Given the description of an element on the screen output the (x, y) to click on. 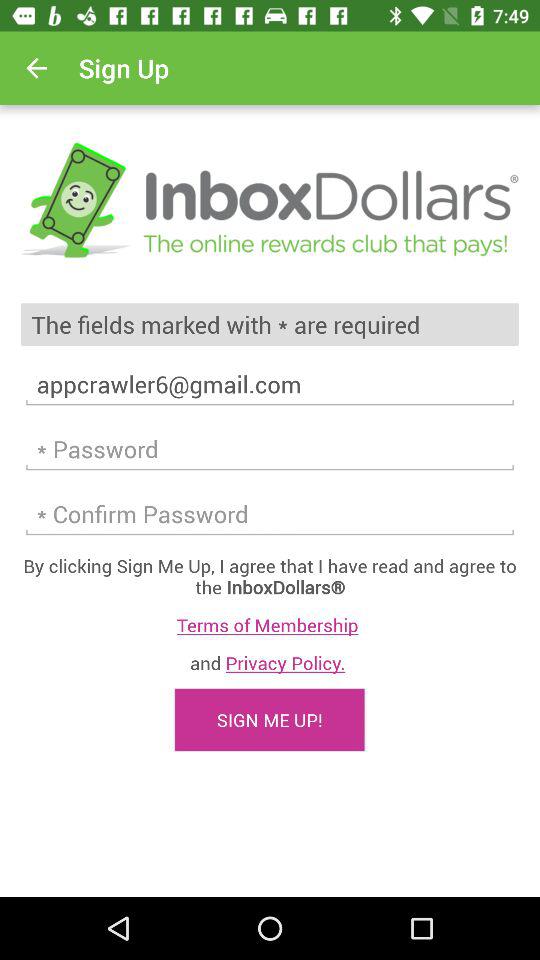
confirm password (270, 514)
